Given the description of an element on the screen output the (x, y) to click on. 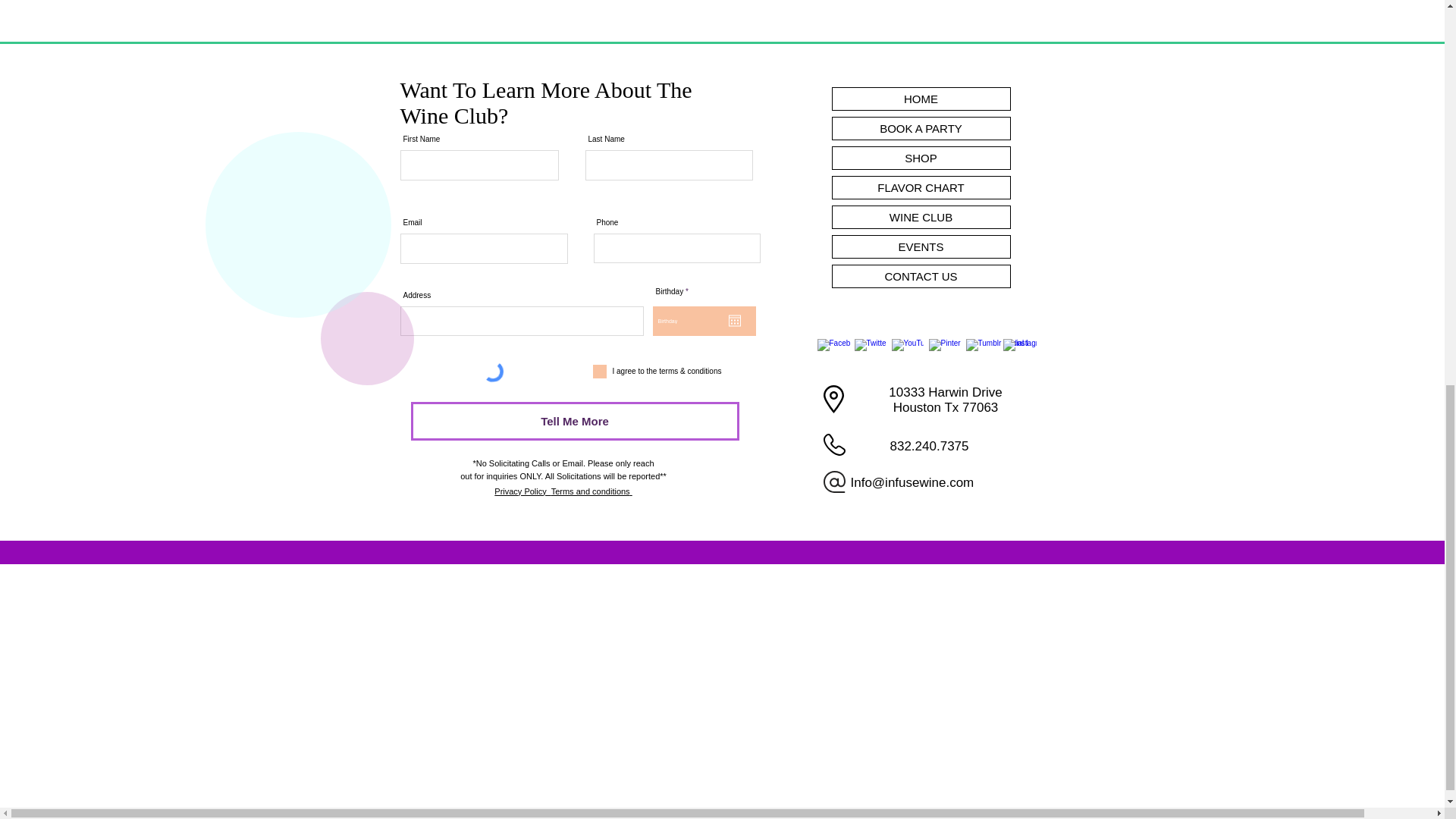
Terms and conditions (590, 490)
BOOK A PARTY (921, 128)
FLAVOR CHART (921, 187)
SHOP (921, 157)
Privacy Policy  (522, 491)
WINE CLUB (921, 217)
HOME (921, 98)
Tell Me More (574, 421)
